Given the description of an element on the screen output the (x, y) to click on. 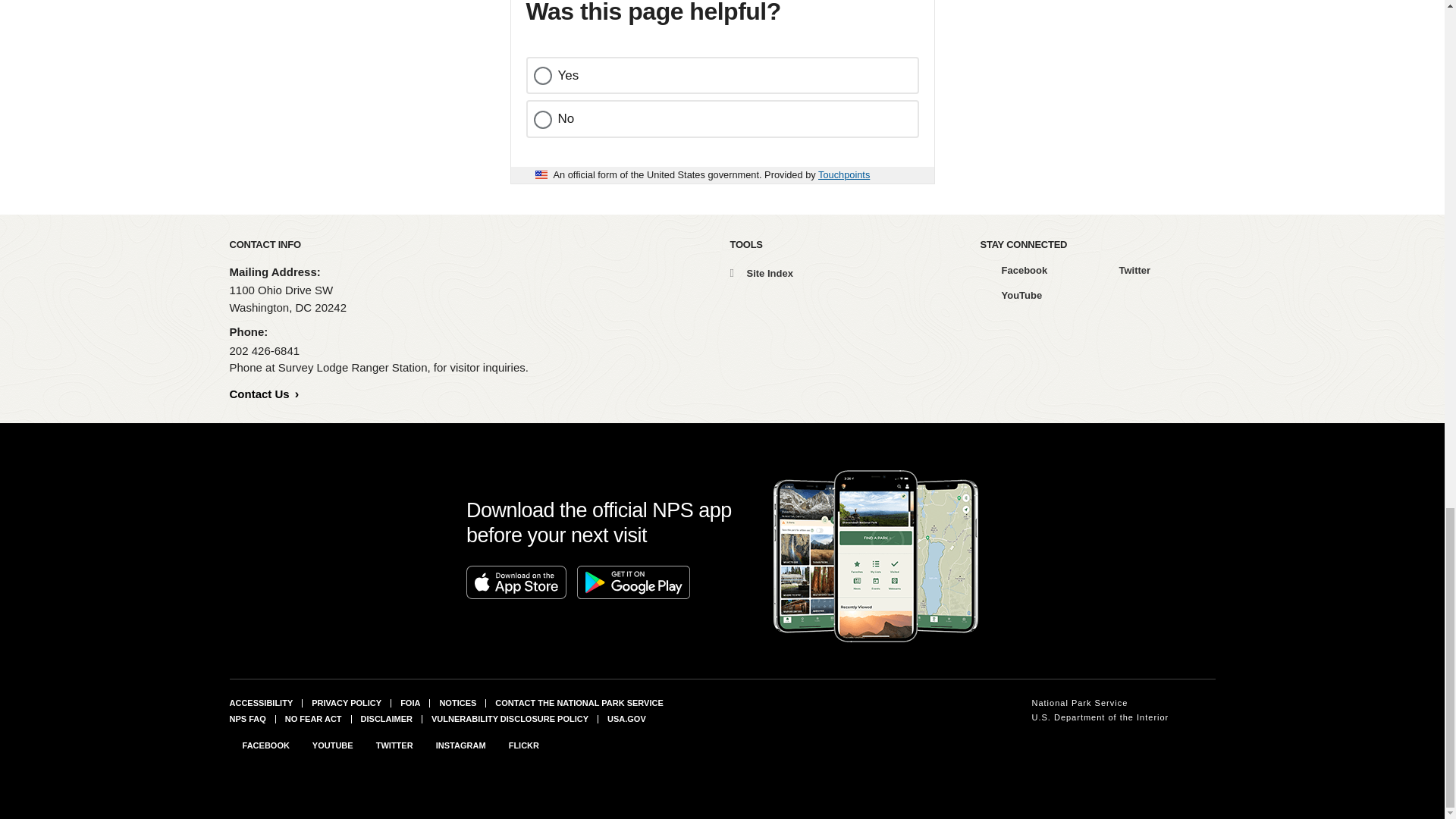
National Park Service frequently asked questions (246, 718)
